Given the description of an element on the screen output the (x, y) to click on. 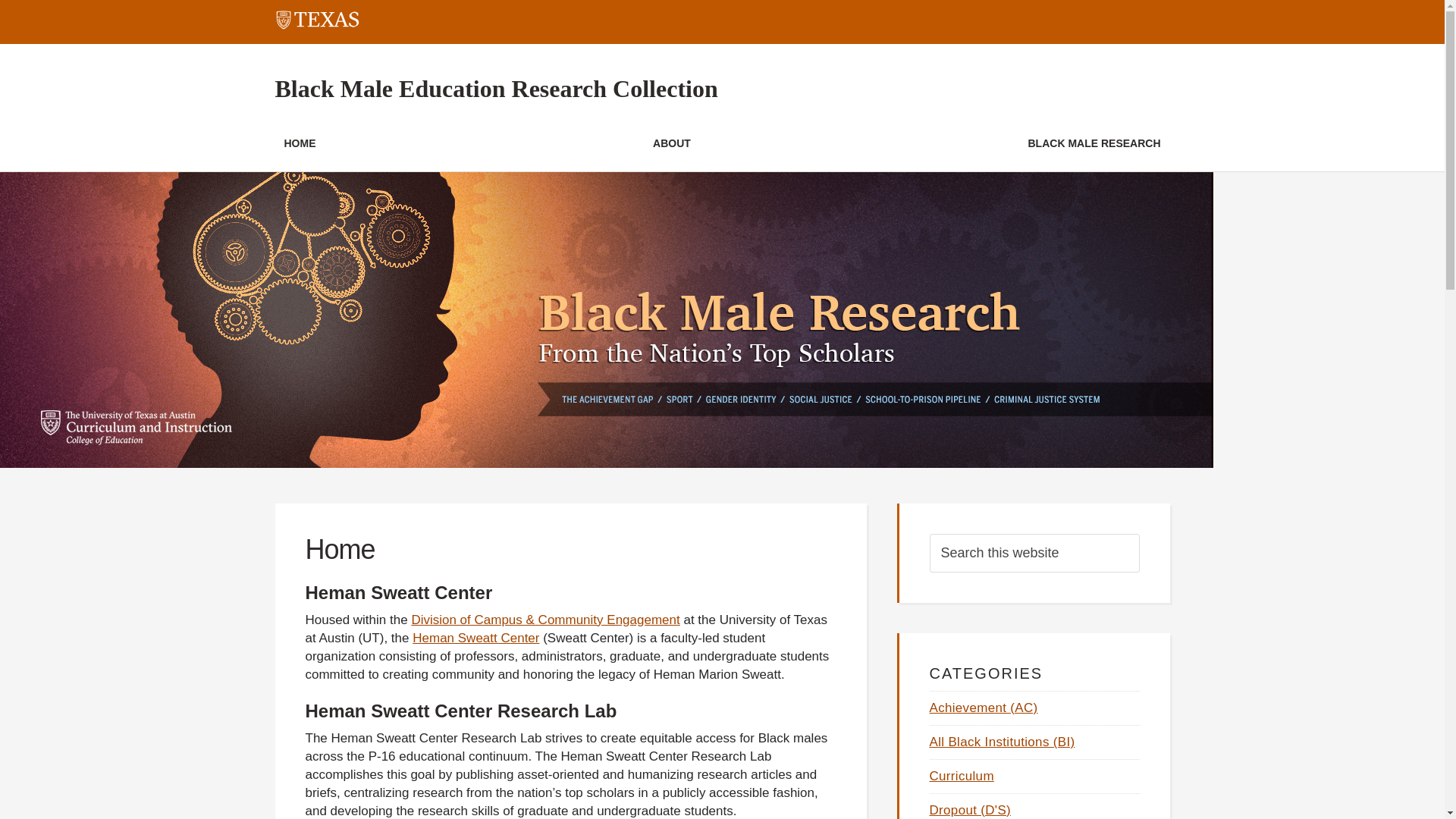
BLACK MALE RESEARCH (1094, 145)
Heman Sweatt Center (475, 637)
Curriculum (962, 775)
Black Male Education Research Collection (496, 88)
ABOUT (671, 145)
HOME (300, 145)
